Given the description of an element on the screen output the (x, y) to click on. 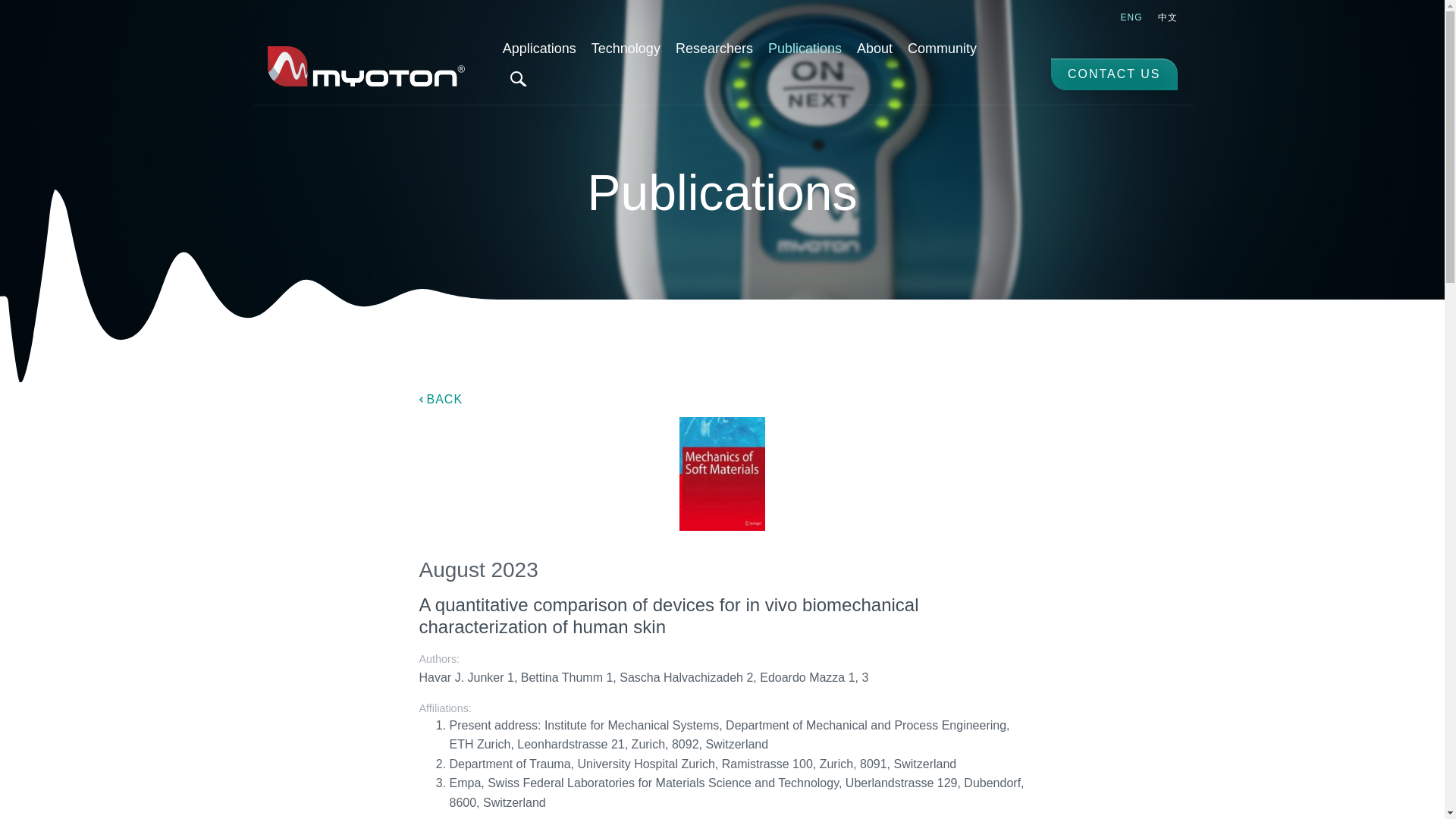
Community (941, 48)
Eng (1131, 17)
Myoton (365, 65)
BACK (441, 399)
CONTACT US (1114, 74)
Researchers (714, 48)
Publications (804, 48)
Technology (625, 48)
ENG (1131, 17)
About (873, 48)
Contact us (1114, 74)
Applications (539, 48)
